Given the description of an element on the screen output the (x, y) to click on. 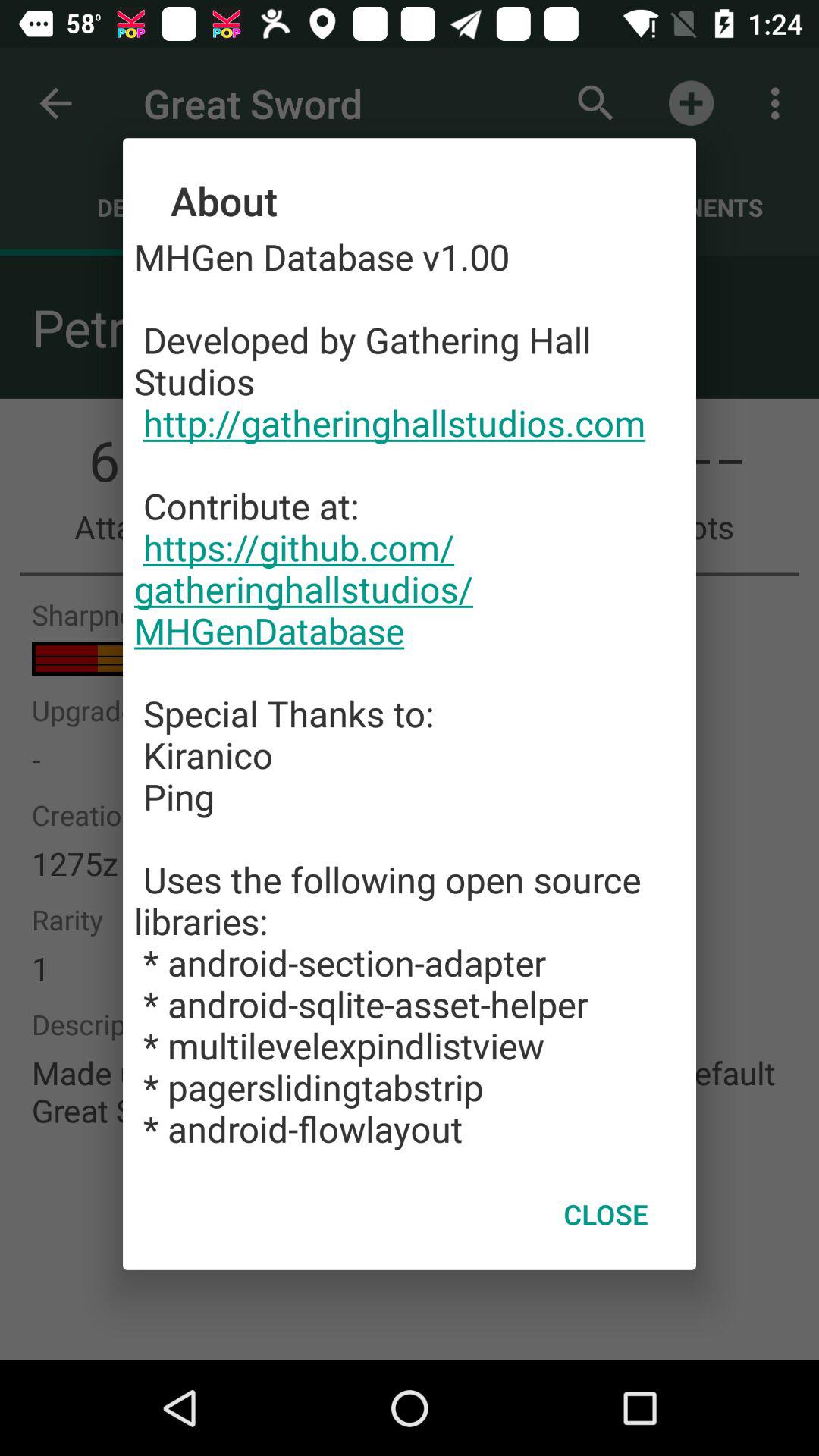
tap the item above the close (409, 692)
